Given the description of an element on the screen output the (x, y) to click on. 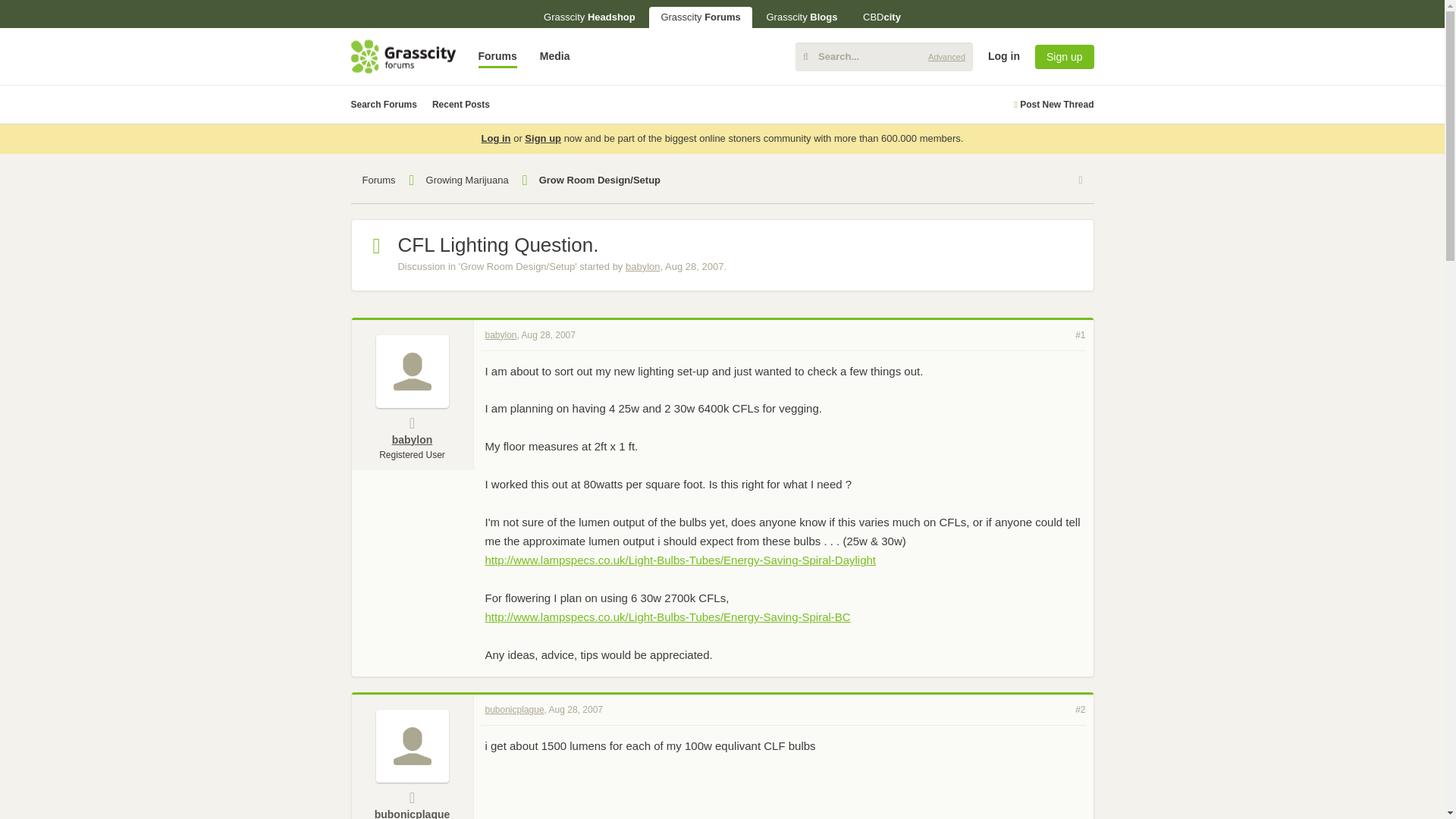
Search Forums (383, 104)
Grasscity Headshop (589, 16)
Enter your search and hit enter (883, 56)
Grasscity Blogs (801, 16)
Recent Posts (460, 104)
Grasscity Forums (700, 16)
Advanced (946, 56)
Sign up (1064, 56)
Log in (1316, 172)
Forums (497, 56)
